Given the description of an element on the screen output the (x, y) to click on. 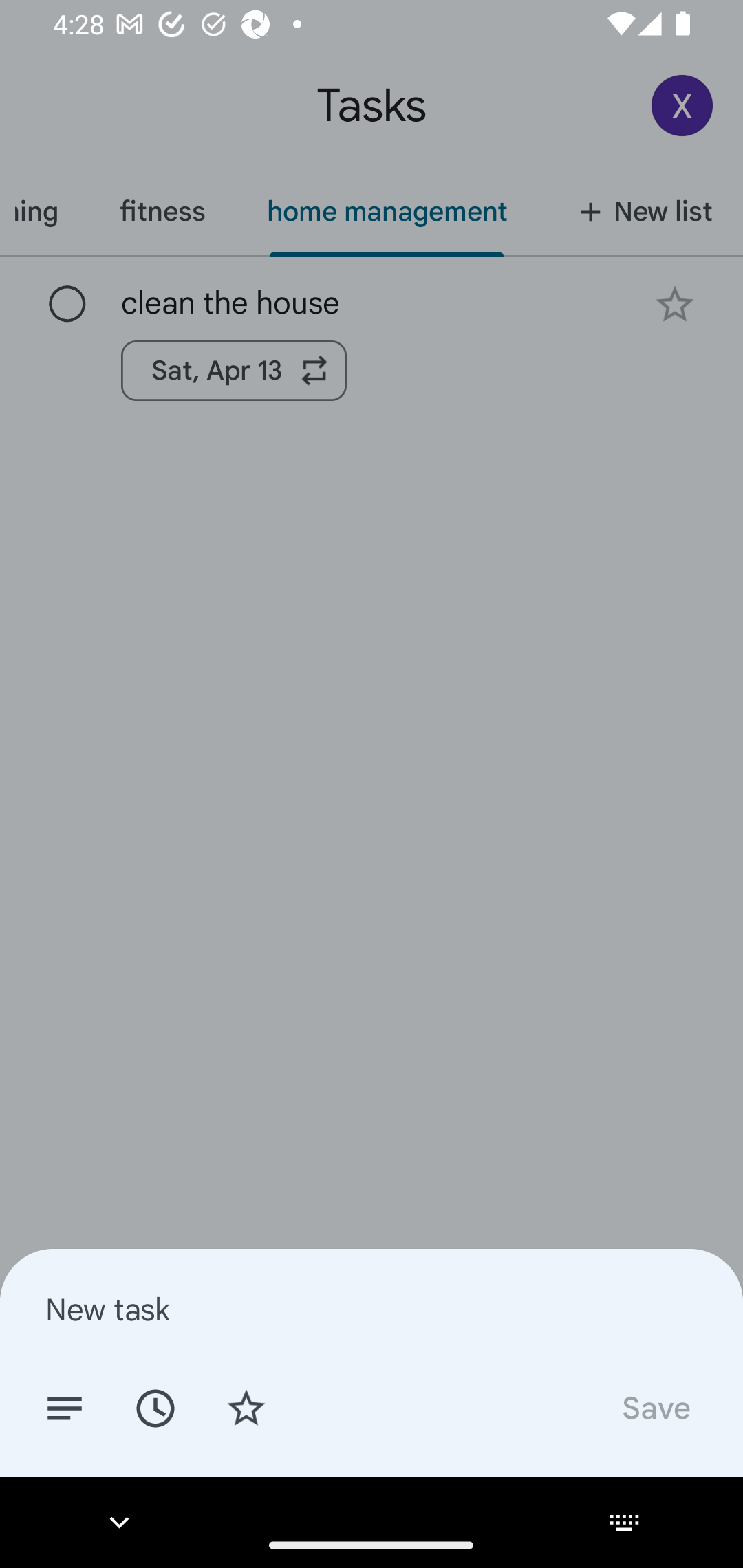
New task (371, 1308)
Save (655, 1407)
Add details (64, 1407)
Set date/time (154, 1407)
Add star (245, 1407)
